Given the description of an element on the screen output the (x, y) to click on. 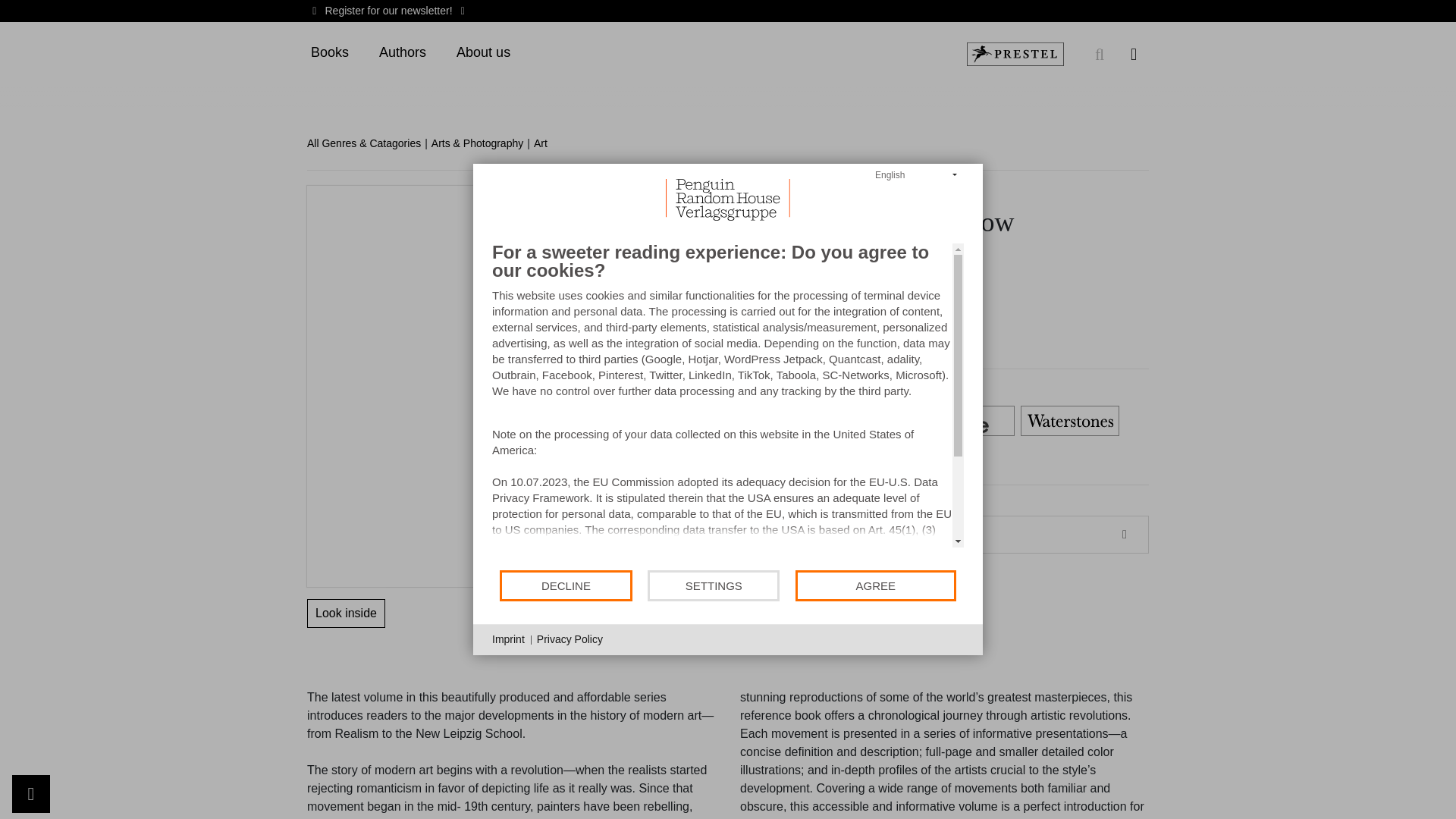
amazoncouk (651, 421)
Art (545, 142)
Rosalind Ormiston (651, 193)
waterstones (1069, 421)
blackwells (755, 421)
Register for our newsletter! (388, 10)
bookshop (860, 421)
OTHER PRODUCT FORMS (874, 534)
hive (964, 421)
otherstores (651, 458)
Look inside (346, 613)
Authors (402, 52)
Books (329, 52)
About us (483, 52)
